Given the description of an element on the screen output the (x, y) to click on. 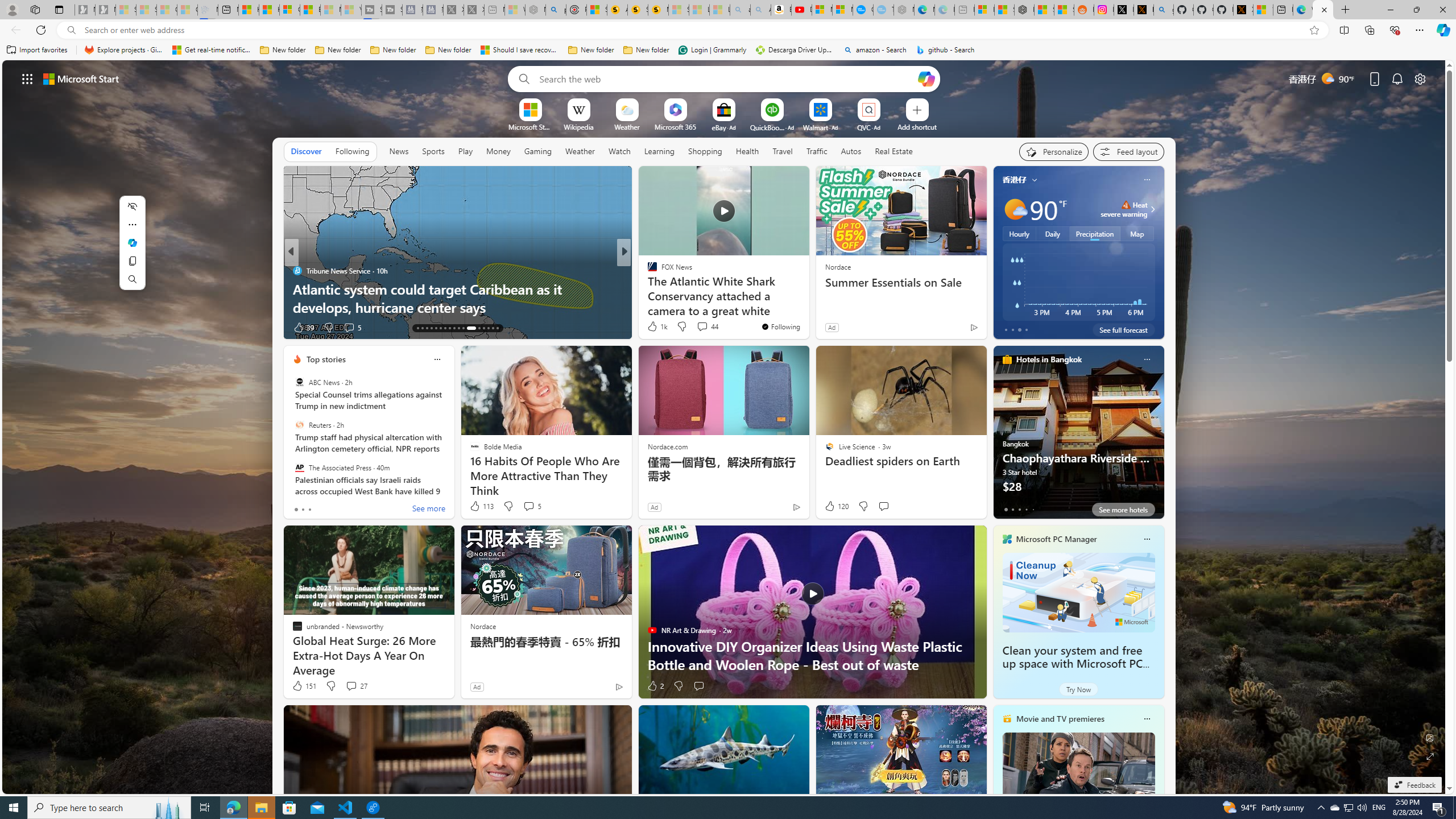
Hourly (1018, 233)
AutomationID: backgroundImagePicture (723, 426)
Map (1137, 233)
Class: weather-arrow-glyph (1152, 208)
Movie and TV premieres (1060, 718)
Copy (132, 261)
Summer Essentials on Sale (900, 282)
